Given the description of an element on the screen output the (x, y) to click on. 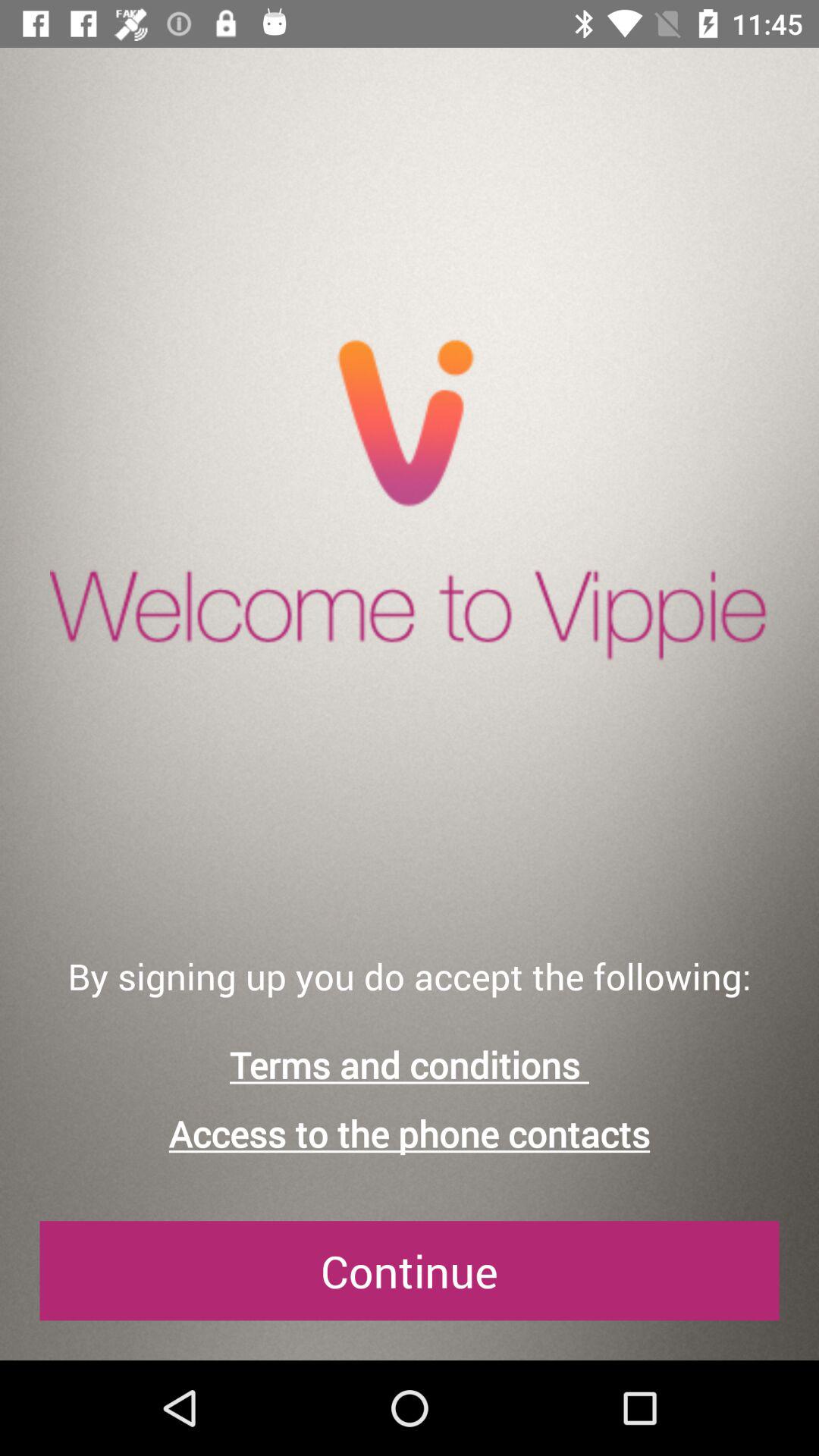
turn off access to the item (409, 1133)
